Given the description of an element on the screen output the (x, y) to click on. 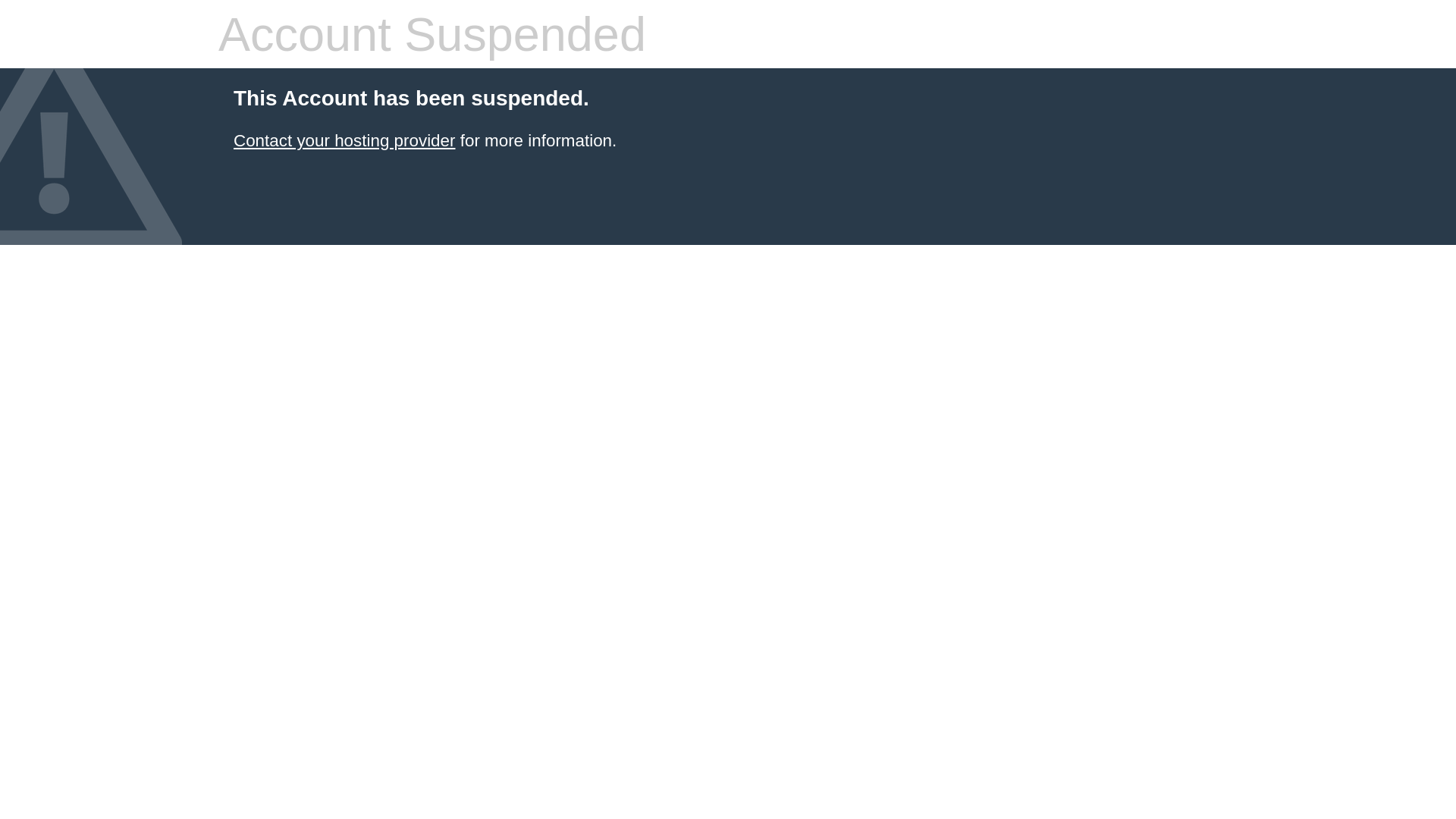
Contact your hosting provider Element type: text (344, 140)
